Given the description of an element on the screen output the (x, y) to click on. 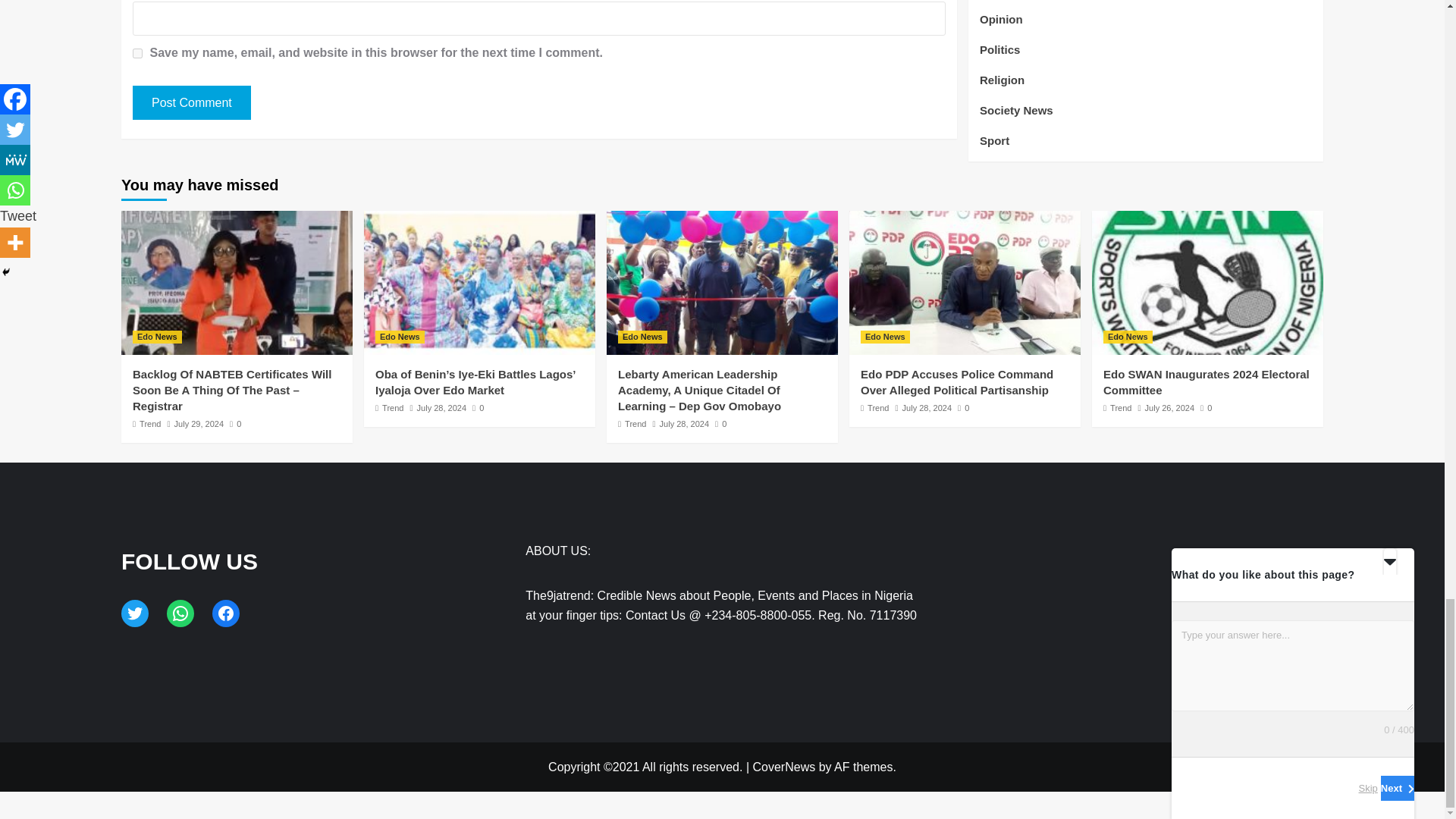
yes (137, 53)
Post Comment (191, 102)
